Given the description of an element on the screen output the (x, y) to click on. 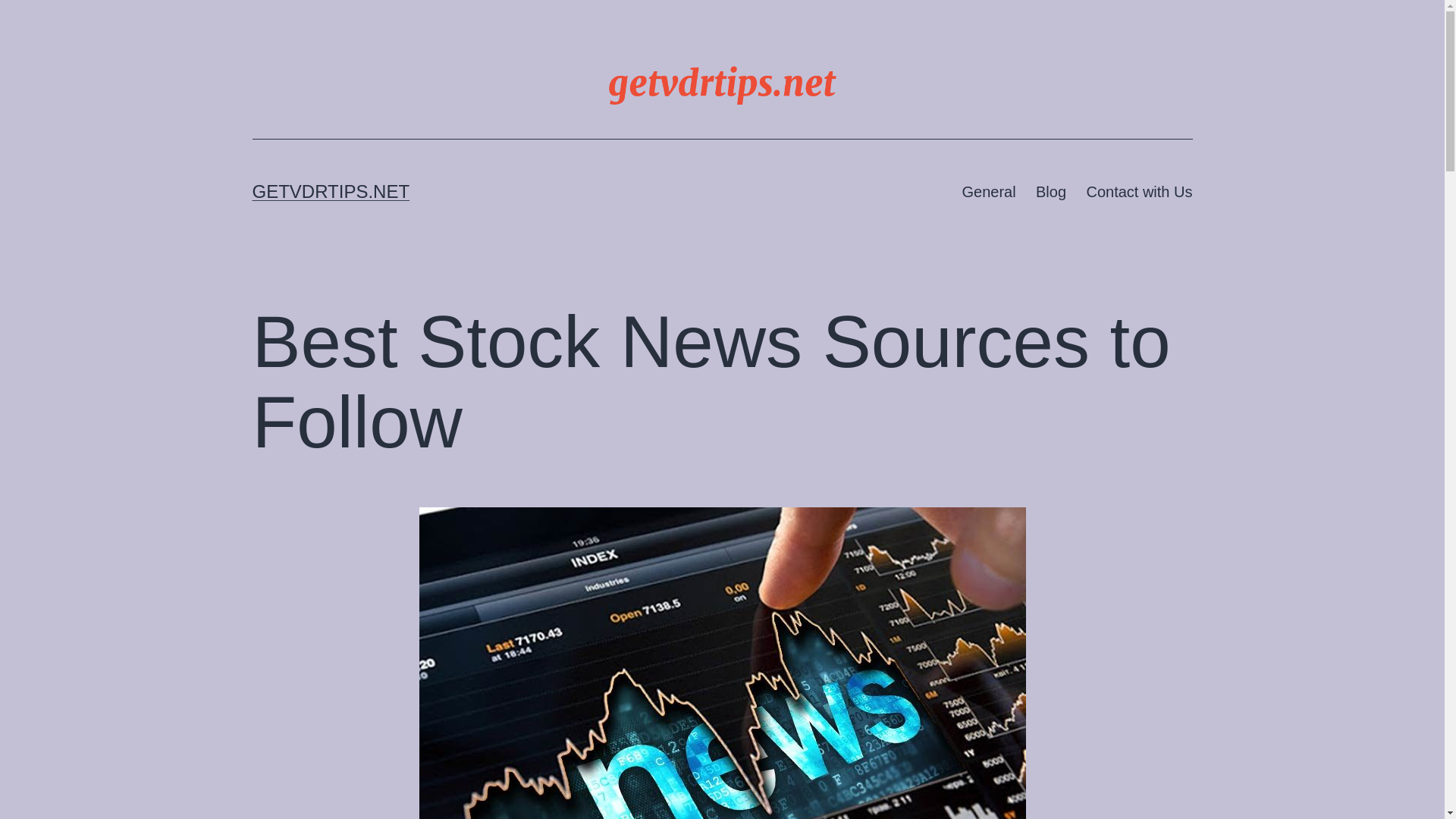
Blog (1050, 191)
Contact with Us (1138, 191)
GETVDRTIPS.NET (330, 190)
General (989, 191)
